Given the description of an element on the screen output the (x, y) to click on. 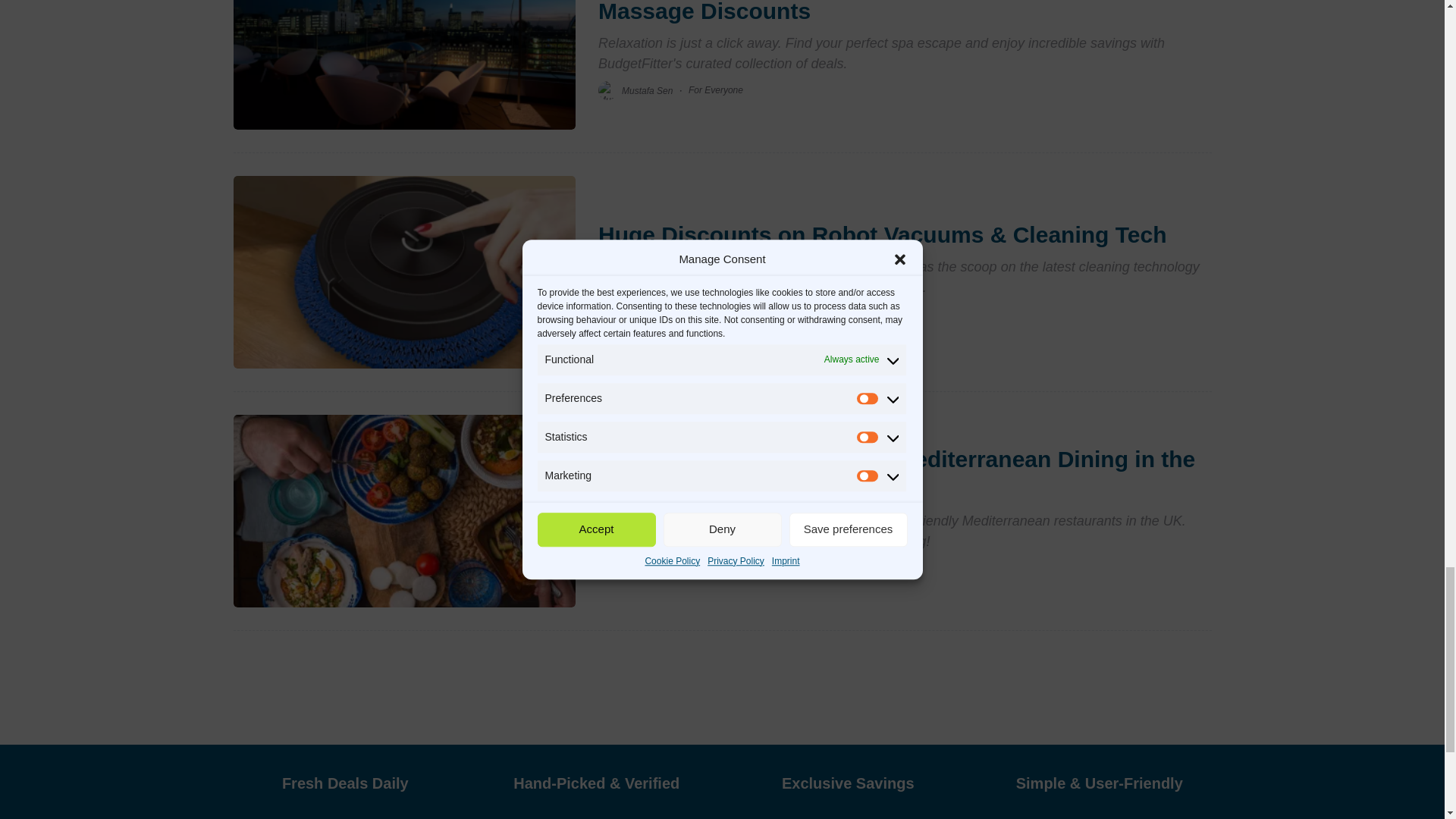
Posts by Mustafa Sen (646, 314)
Posts by Mustafa Sen (646, 567)
Posts by Mustafa Sen (646, 90)
